Given the description of an element on the screen output the (x, y) to click on. 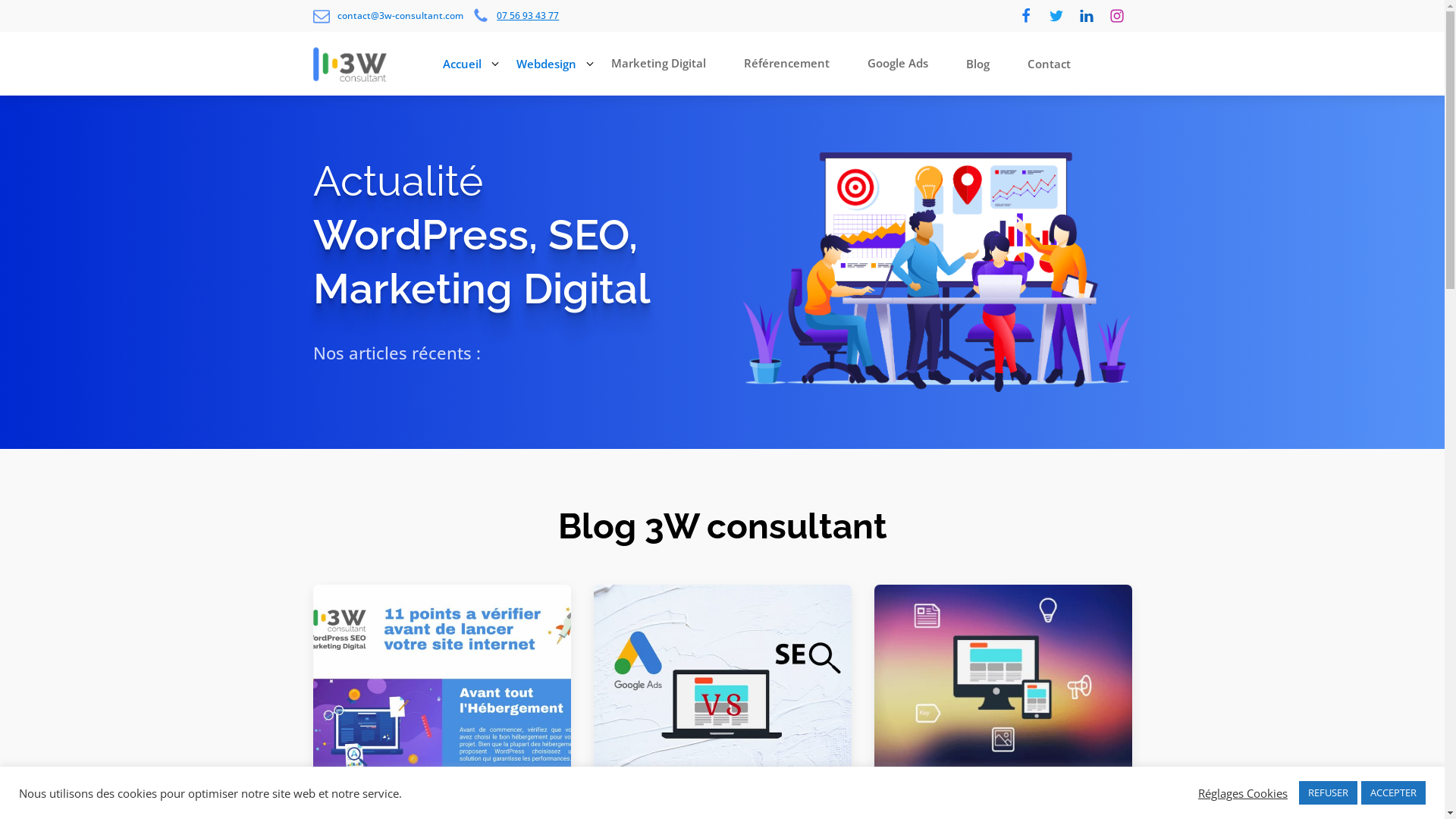
Blog Element type: text (981, 63)
contact@3w-consultant.com Element type: text (387, 15)
Webdesign Element type: text (545, 63)
Google Ads Element type: text (901, 63)
Marketing Digital Element type: text (662, 63)
REFUSER Element type: text (1328, 792)
ACCEPTER Element type: text (1393, 792)
07 56 93 43 77 Element type: text (515, 15)
Contact Element type: text (1051, 63)
Accueil Element type: text (461, 63)
